Given the description of an element on the screen output the (x, y) to click on. 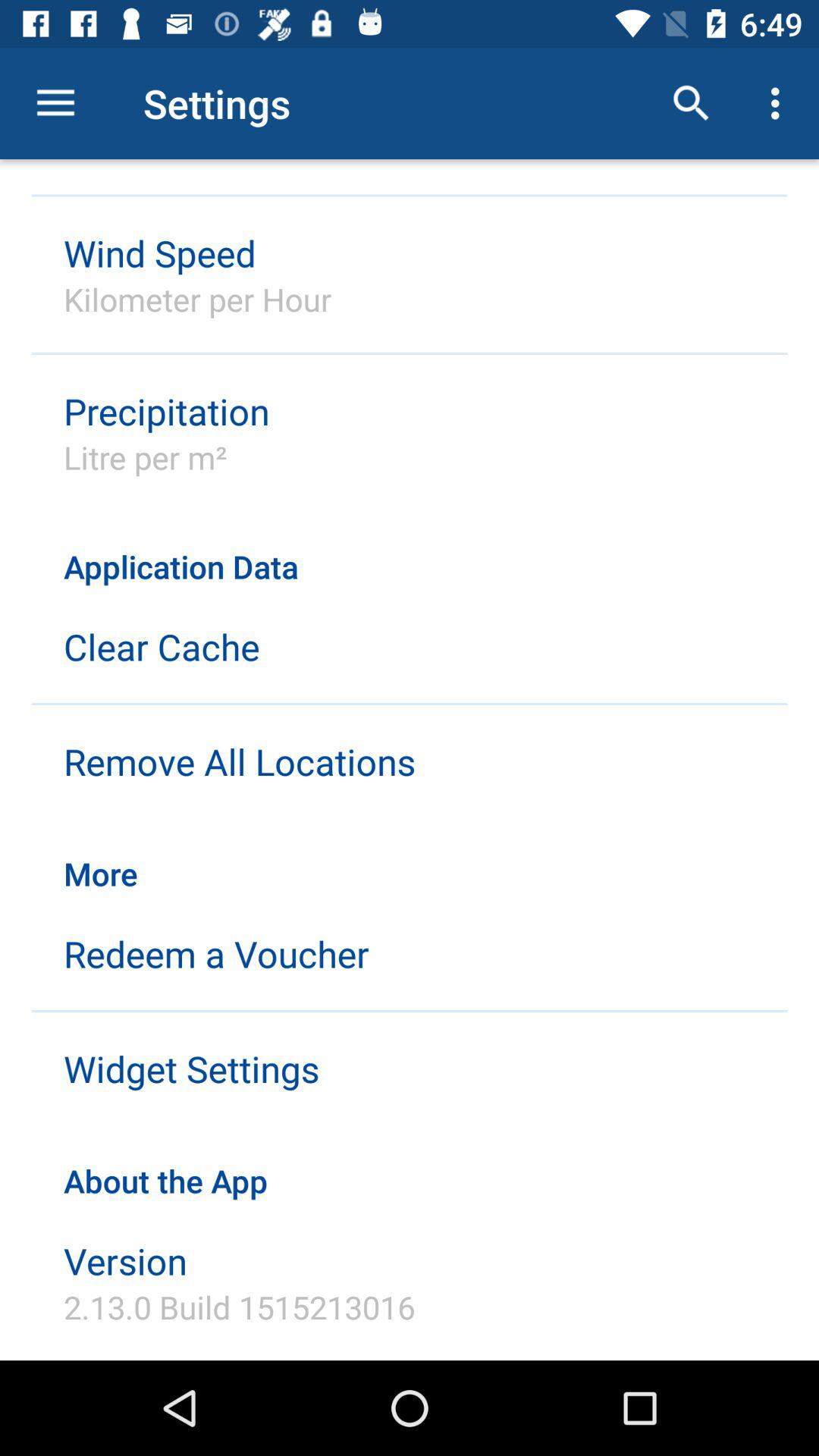
open the item above the application data icon (779, 103)
